Given the description of an element on the screen output the (x, y) to click on. 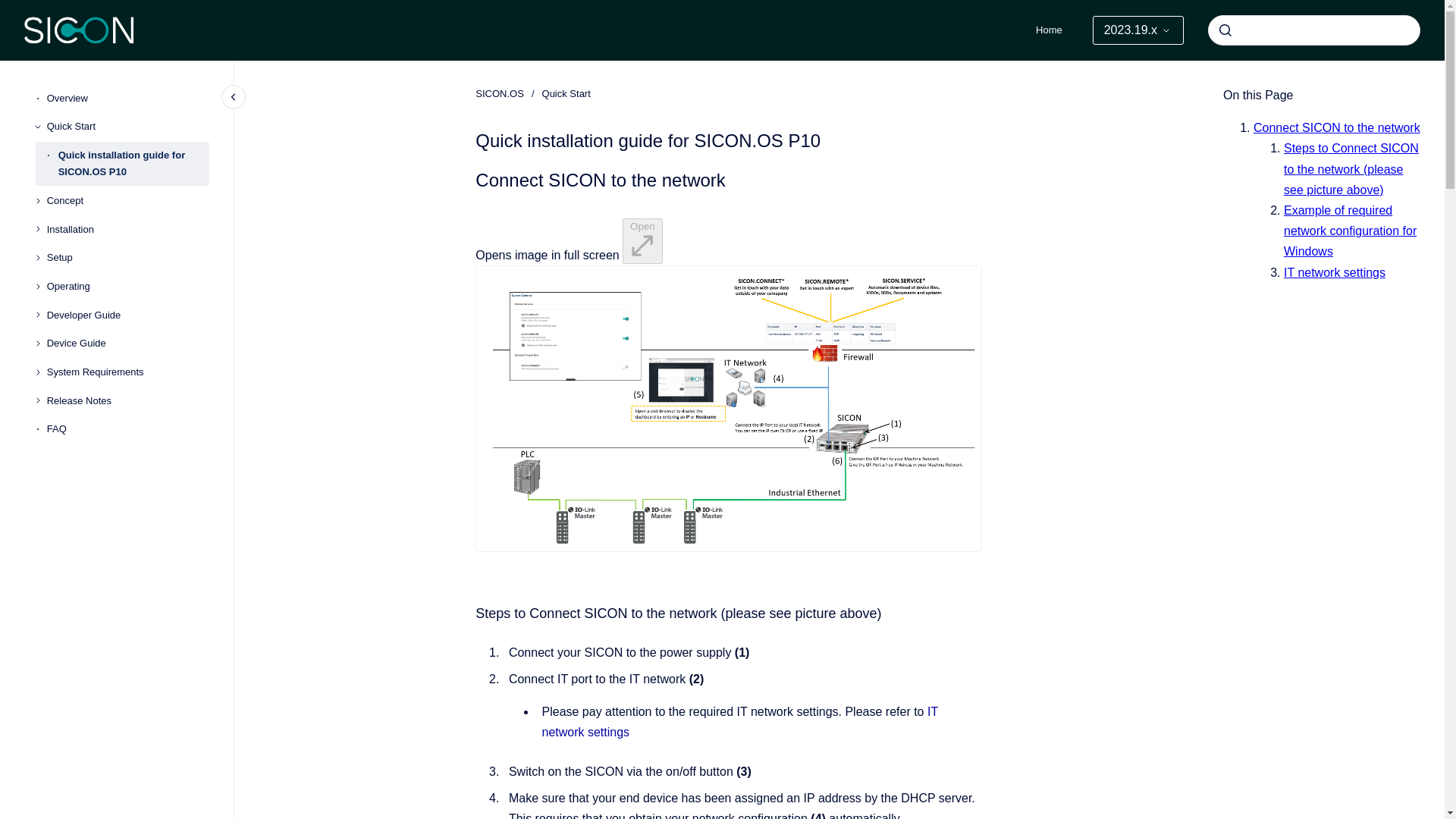
SICON.OS (500, 93)
Quick Start (127, 126)
2023.19.x (1138, 30)
Go to homepage (78, 30)
FAQ (127, 429)
IT network settings (739, 721)
Setup (127, 257)
Quick Start (566, 93)
Quick installation guide for SICON.OS P10 (133, 163)
System Requirements (127, 371)
Operating (127, 286)
Concept (127, 200)
Home (1048, 29)
Release Notes (127, 400)
